Given the description of an element on the screen output the (x, y) to click on. 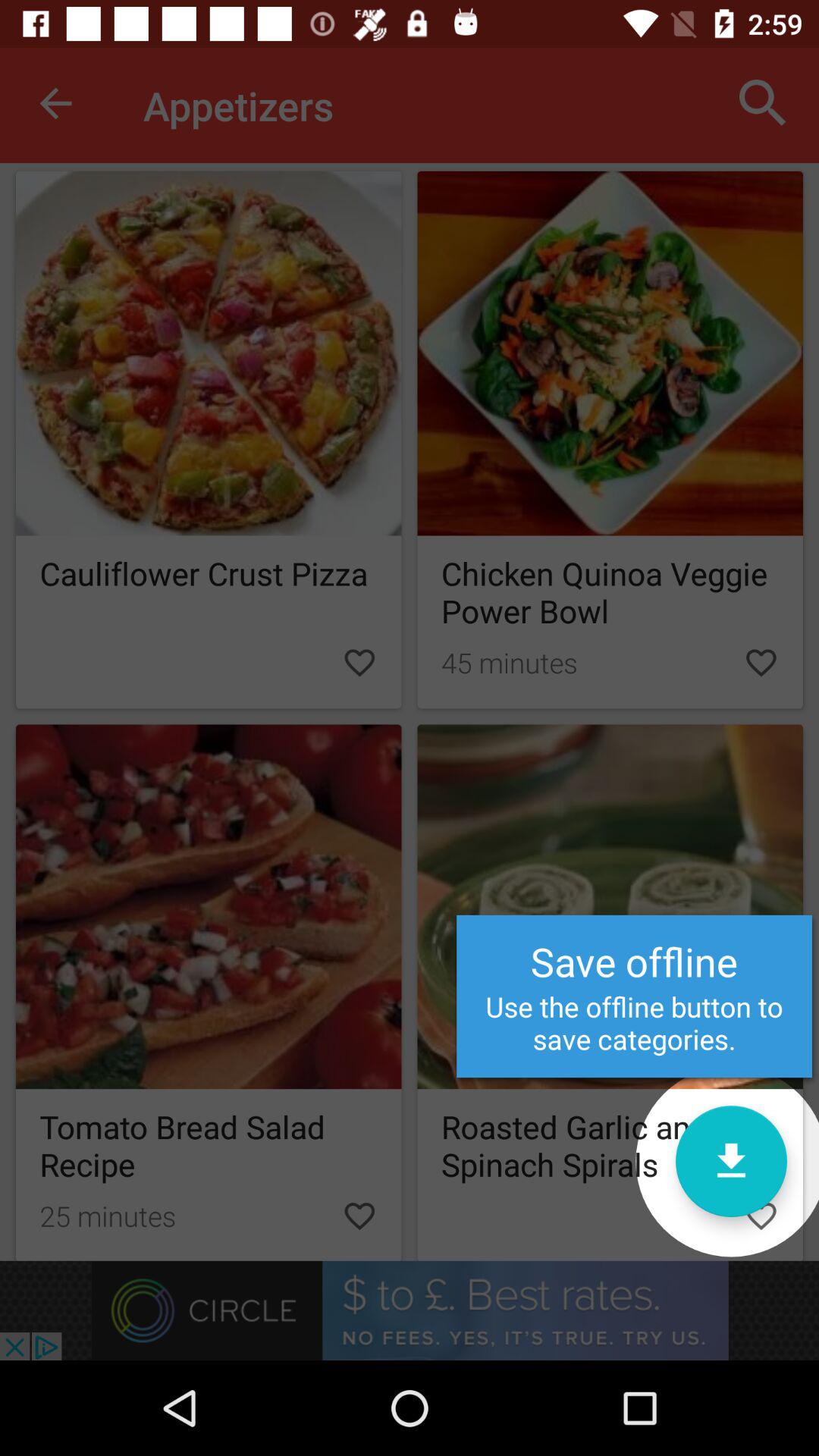
go to save button (731, 1161)
